Given the description of an element on the screen output the (x, y) to click on. 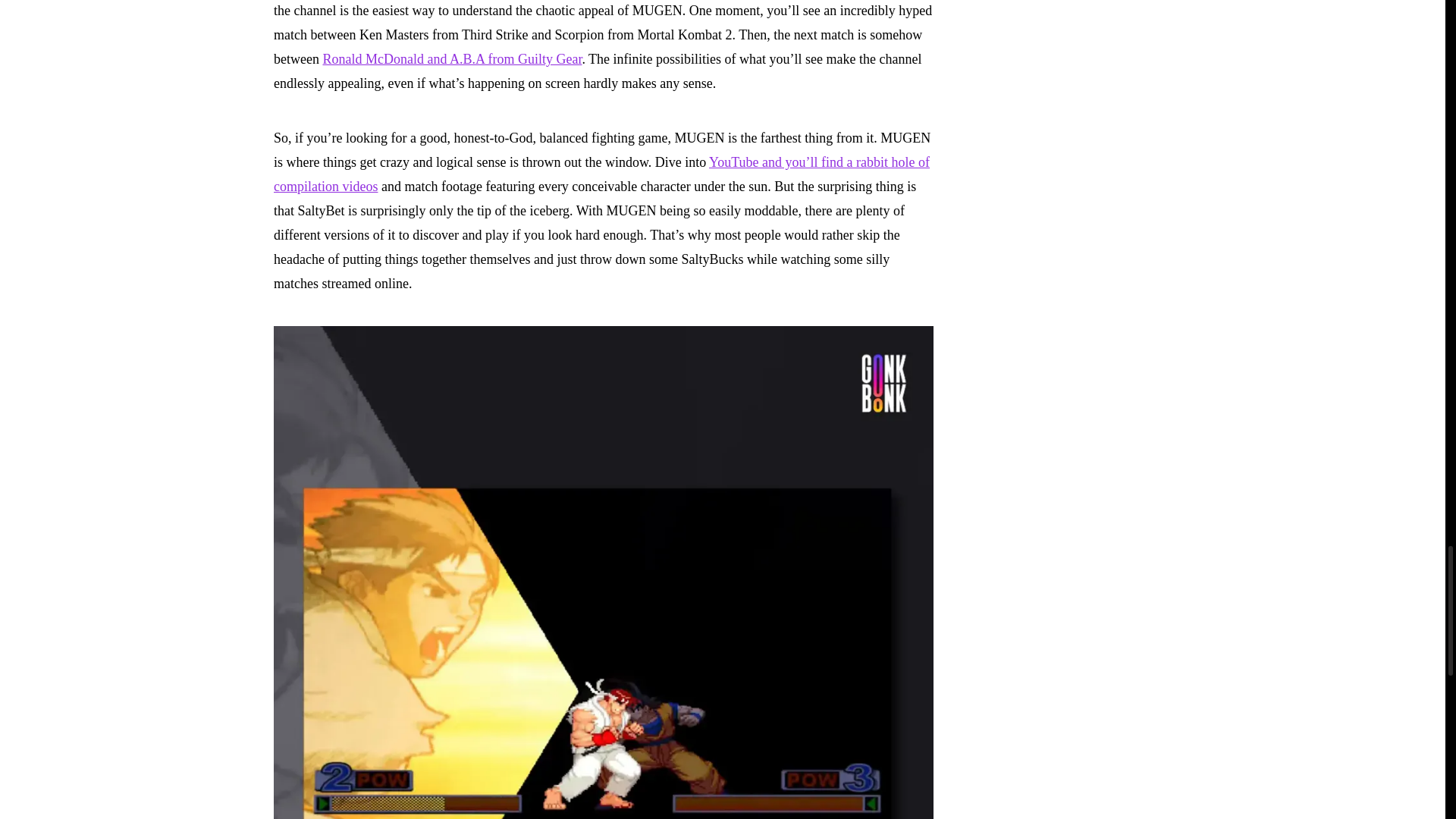
Ronald McDonald and A.B.A from Guilty Gear (450, 58)
